Given the description of an element on the screen output the (x, y) to click on. 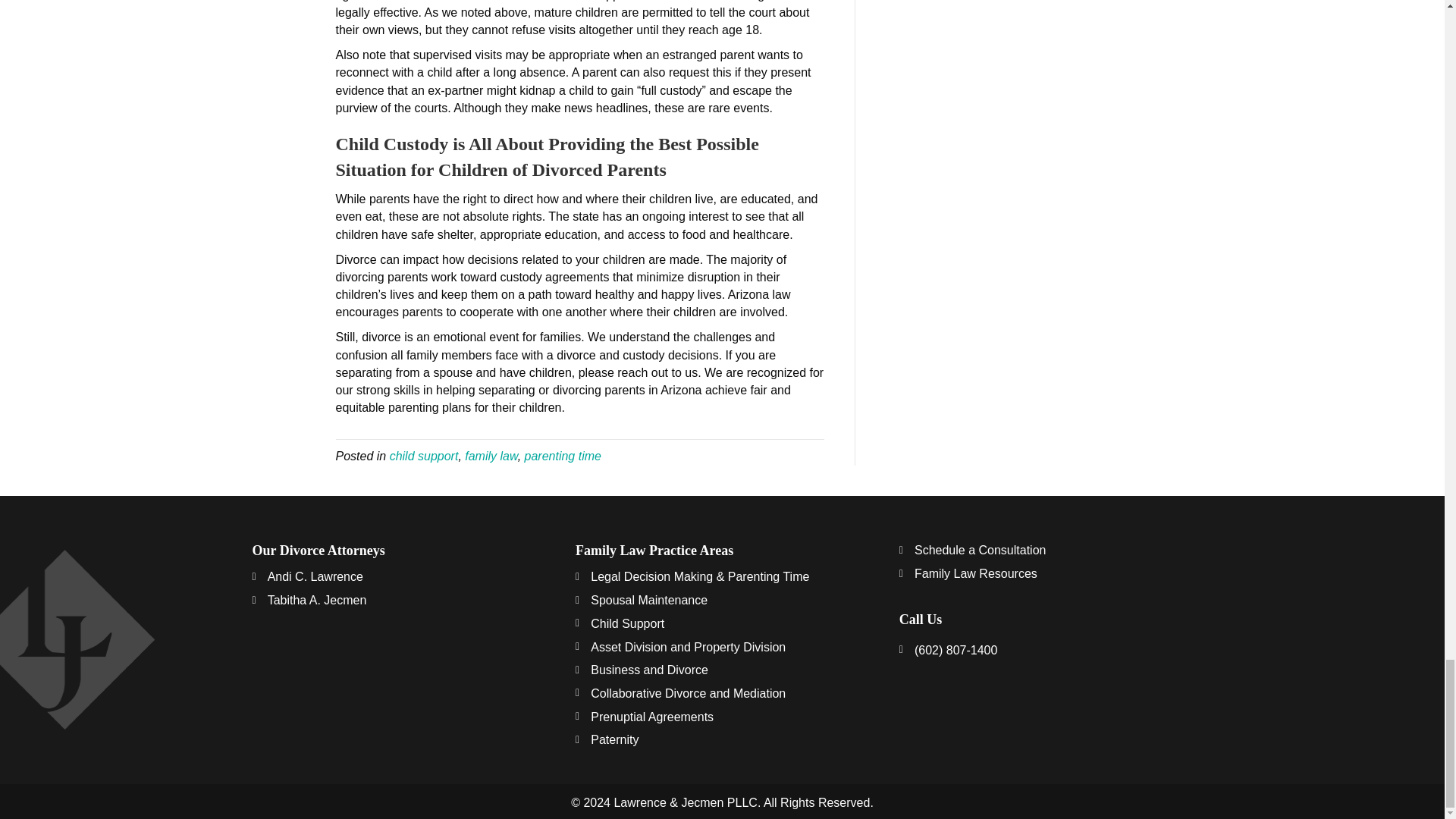
Prenuptial Agreements (652, 716)
Collaborative Divorce and Mediation (688, 692)
child support (424, 455)
Business and Divorce (649, 669)
parenting time (562, 455)
Family Law Resources (975, 573)
Paternity (615, 739)
Andi C. Lawrence (314, 576)
Schedule a Consultation (979, 549)
family law (490, 455)
Child Support (627, 623)
Spousal Maintenance (649, 600)
Tabitha A. Jecmen (316, 600)
Asset Division and Property Division (688, 647)
